Given the description of an element on the screen output the (x, y) to click on. 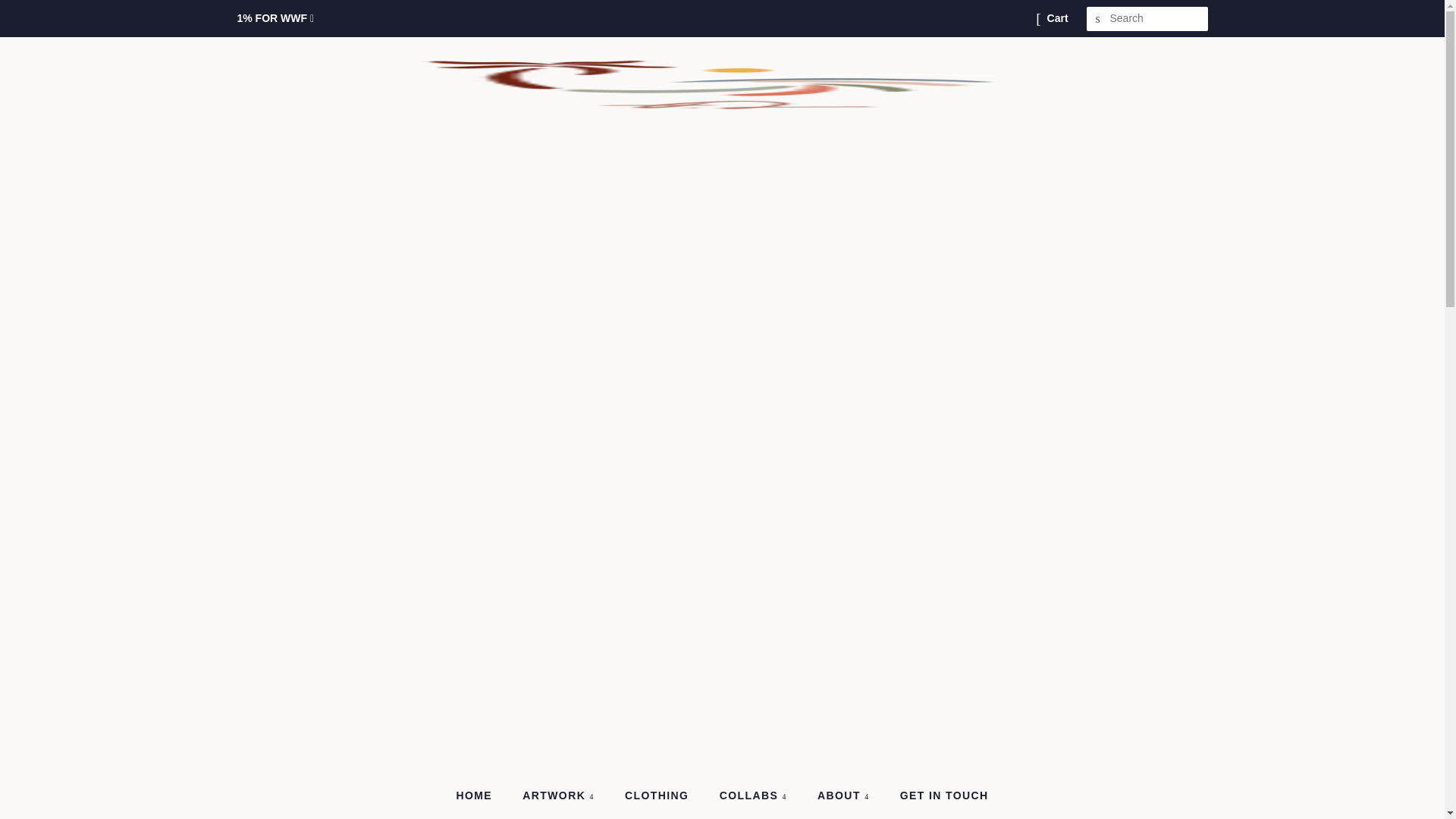
COLLABS (754, 796)
GET IN TOUCH (938, 796)
ARTWORK (560, 796)
CLOTHING (657, 796)
SEARCH (1097, 18)
HOME (480, 796)
Cart (1057, 18)
ABOUT (844, 796)
